Given the description of an element on the screen output the (x, y) to click on. 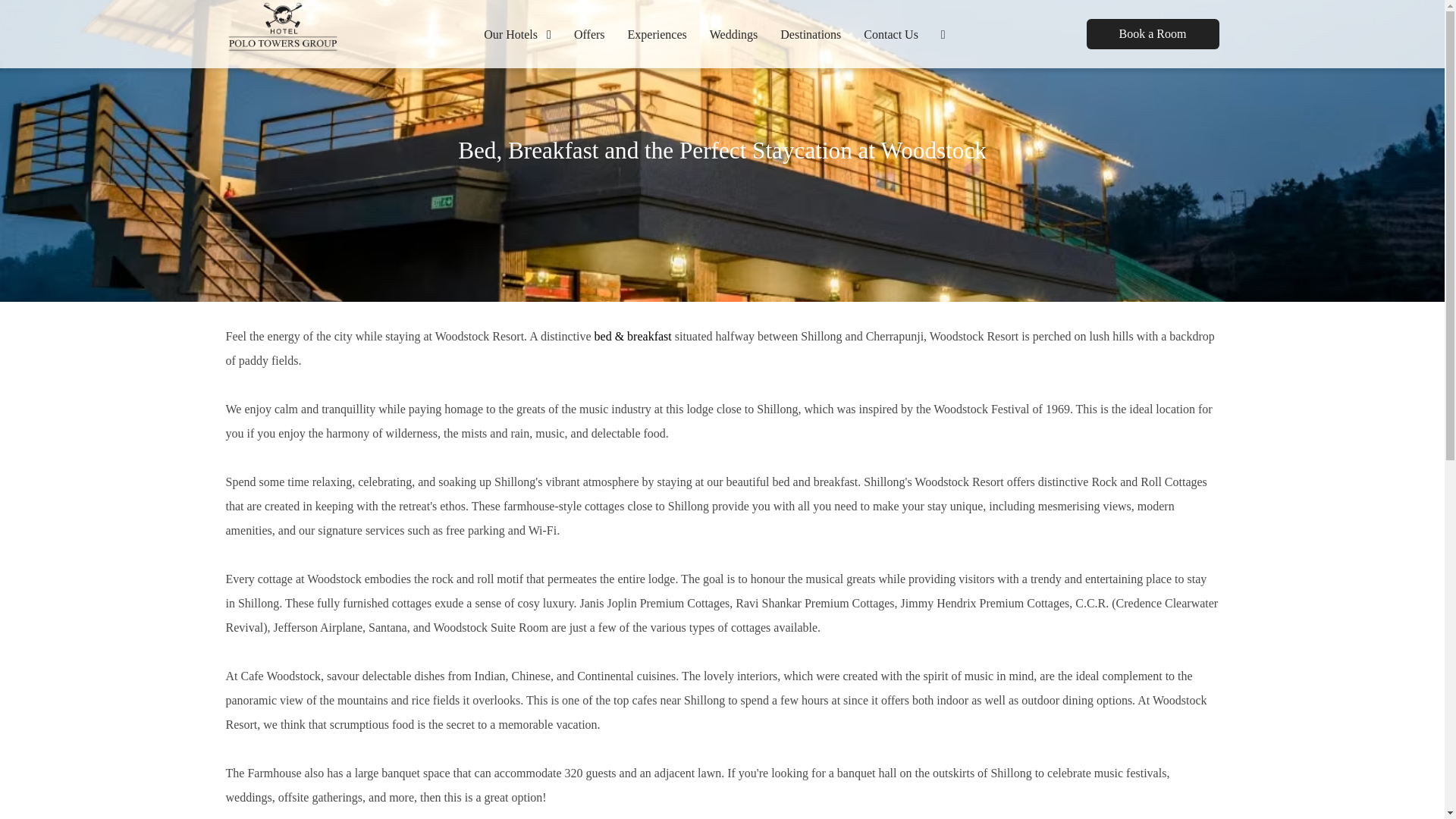
Contact Us (890, 33)
Book a Room (1152, 33)
Weddings (734, 33)
Experiences (656, 33)
Our Hotels (522, 33)
Destinations (809, 33)
